Given the description of an element on the screen output the (x, y) to click on. 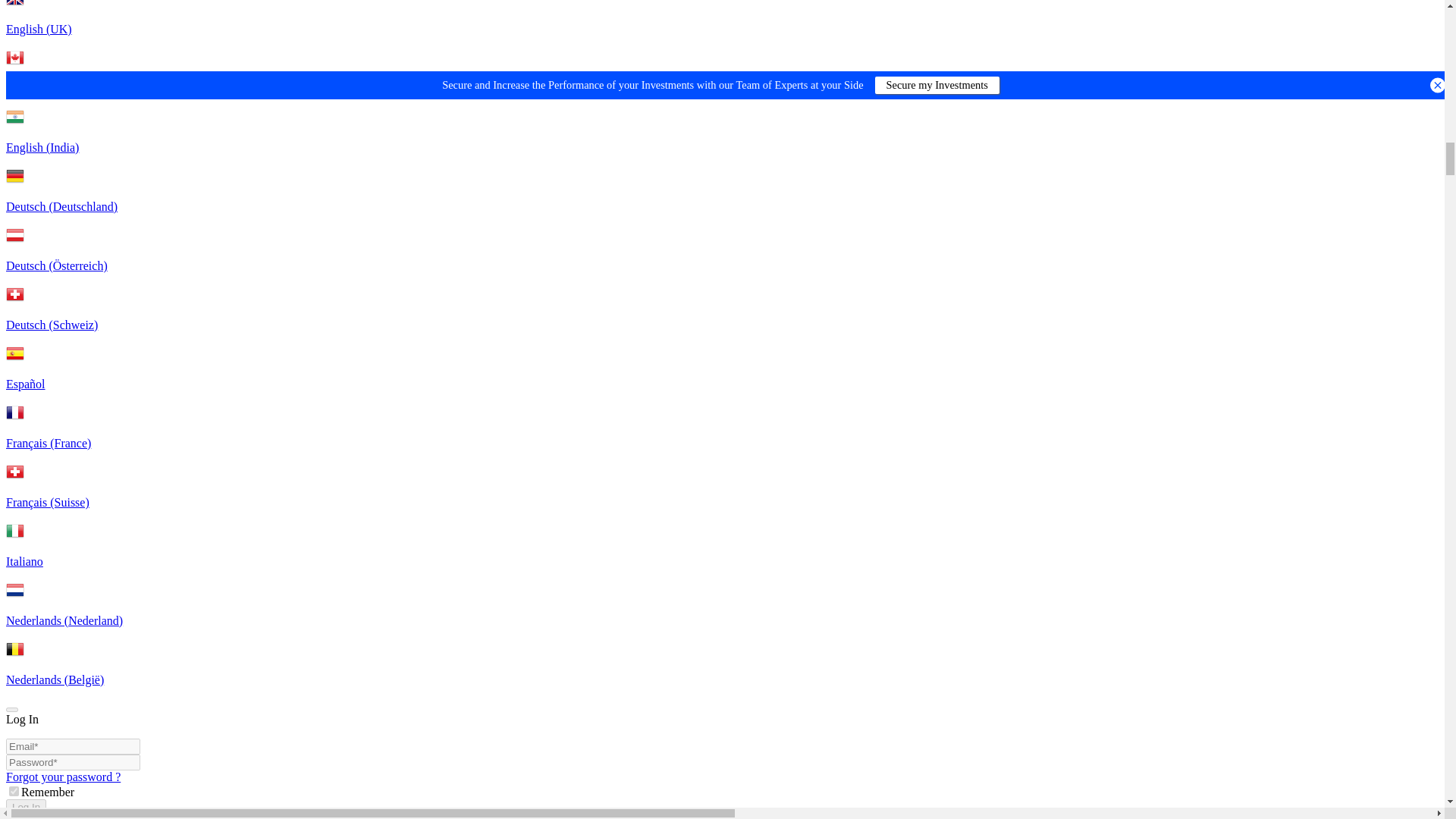
Log In (25, 806)
Forgot your password ? (62, 776)
on (13, 791)
Italiano (721, 565)
